Given the description of an element on the screen output the (x, y) to click on. 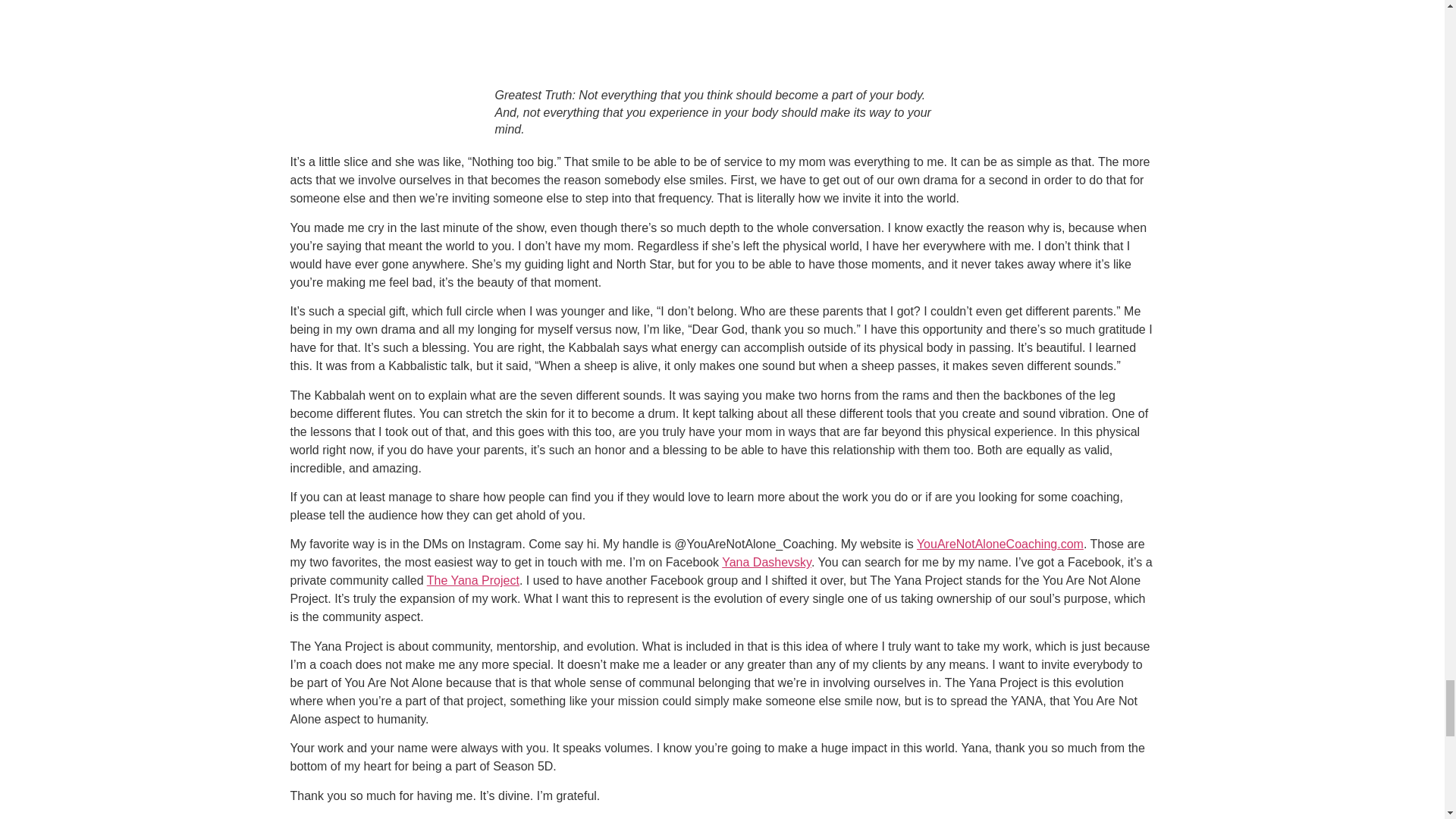
Yana Dashevsky (766, 562)
The Yana Project (472, 580)
YouAreNotAloneCoaching.com (1000, 543)
